Given the description of an element on the screen output the (x, y) to click on. 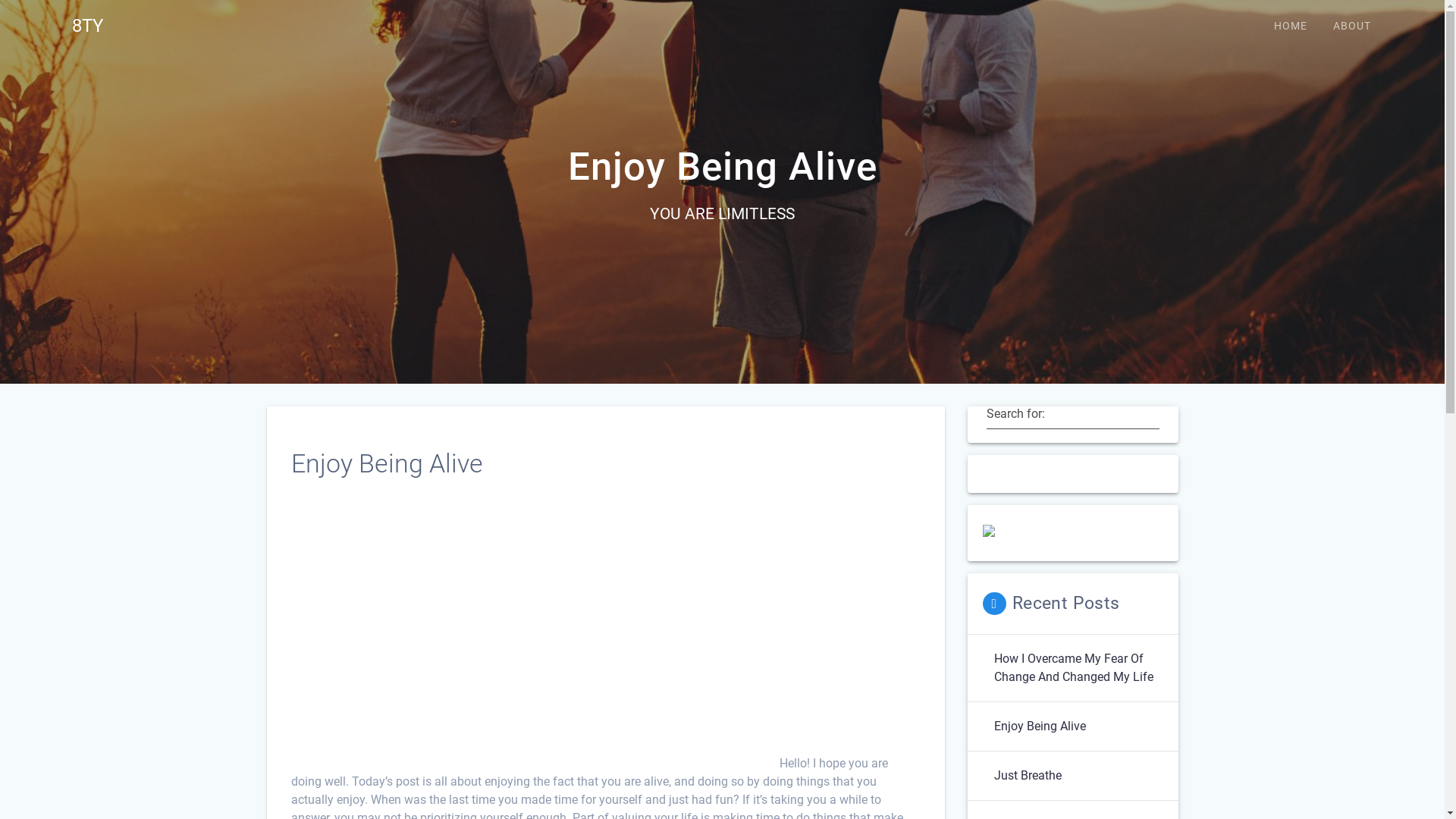
8TY Element type: text (87, 25)
ABOUT Element type: text (1351, 25)
Just Breathe Element type: text (1026, 775)
Enjoy Being Alive Element type: text (1038, 726)
How I Overcame My Fear Of Change And Changed My Life Element type: text (1077, 667)
HOME Element type: text (1290, 25)
